Given the description of an element on the screen output the (x, y) to click on. 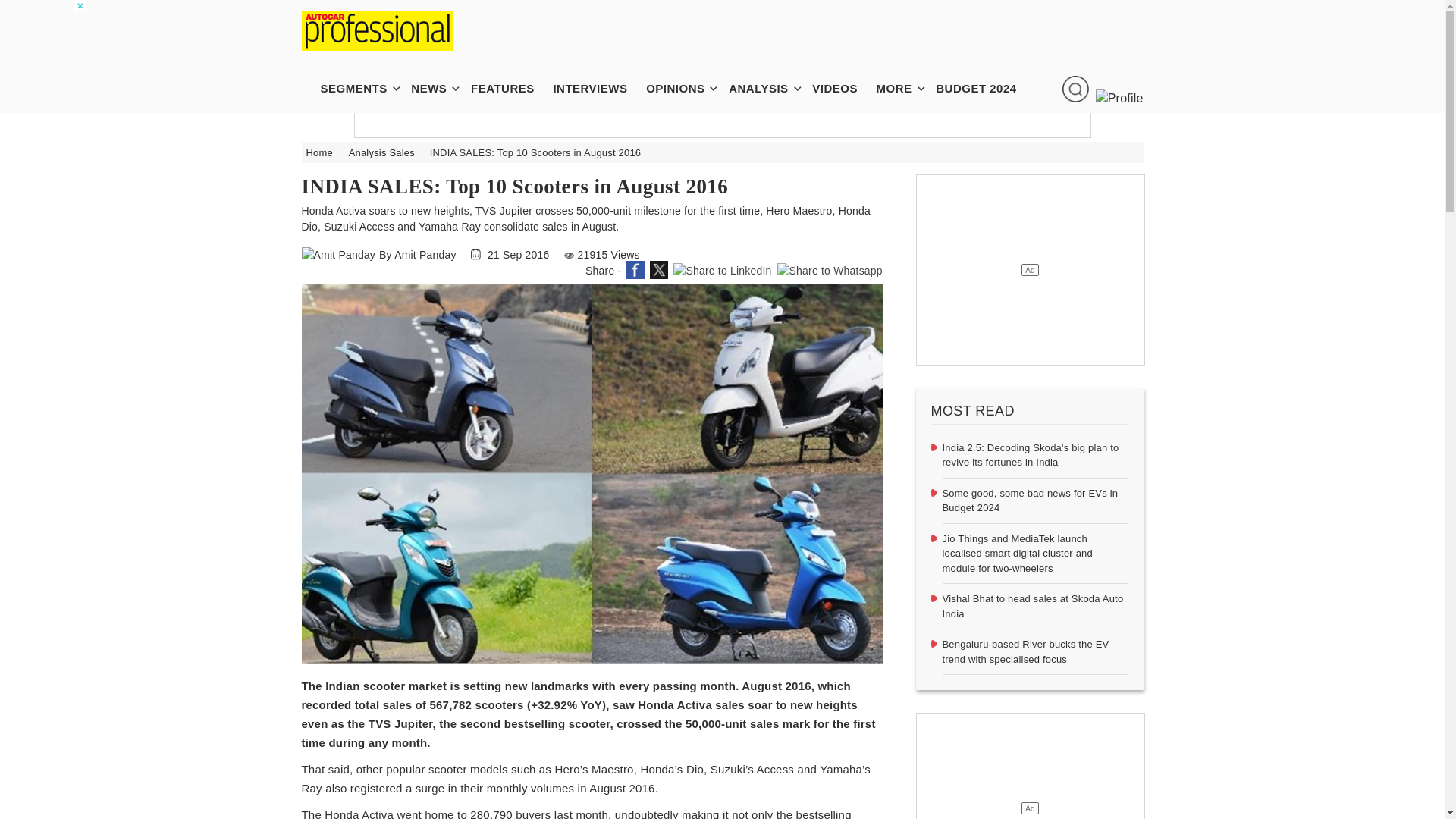
OPINIONS (682, 88)
VIDEOS (842, 88)
SEGMENTS (361, 88)
MORE (901, 88)
NEWS (435, 88)
FEATURES (510, 88)
ANALYSIS (765, 88)
INTERVIEWS (596, 88)
BUDGET 2024 (983, 88)
